Given the description of an element on the screen output the (x, y) to click on. 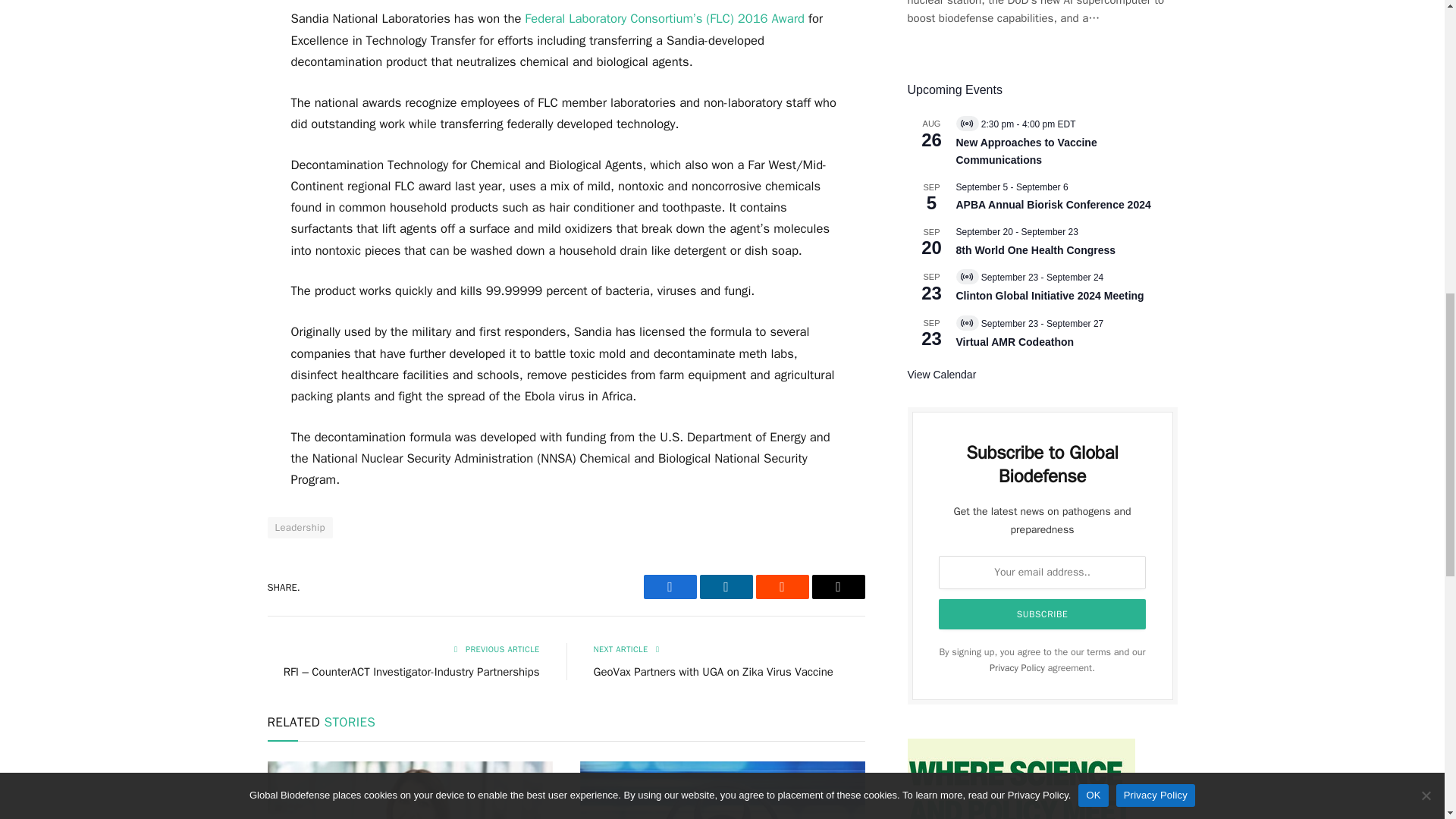
Email (837, 586)
Leadership (298, 527)
Virtual Event (966, 322)
LinkedIn (725, 586)
Share on Facebook (669, 586)
Subscribe (1043, 613)
Reddit (781, 586)
Facebook (669, 586)
GeoVax Partners with UGA on Zika Virus Vaccine (712, 671)
Virtual Event (966, 276)
